Given the description of an element on the screen output the (x, y) to click on. 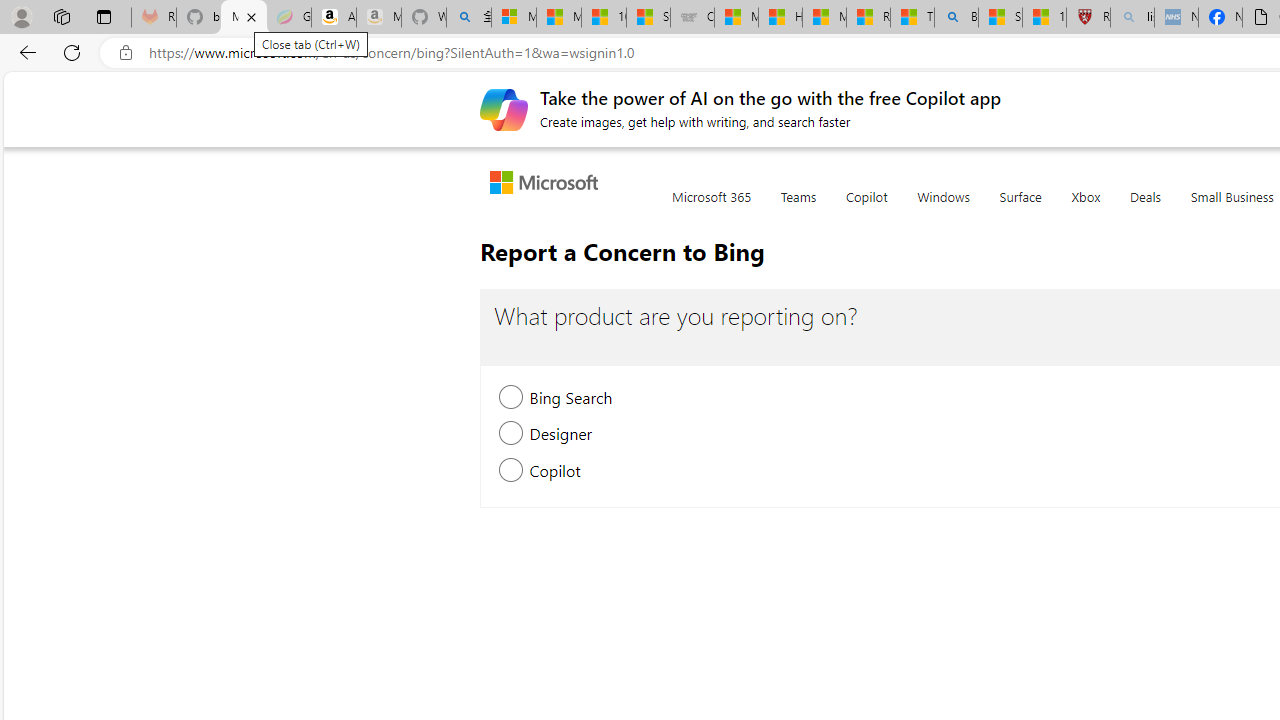
Copilot (866, 207)
Create images, get help with writing, and search faster (503, 108)
Recipes - MSN (868, 17)
Surface (1019, 208)
